Given the description of an element on the screen output the (x, y) to click on. 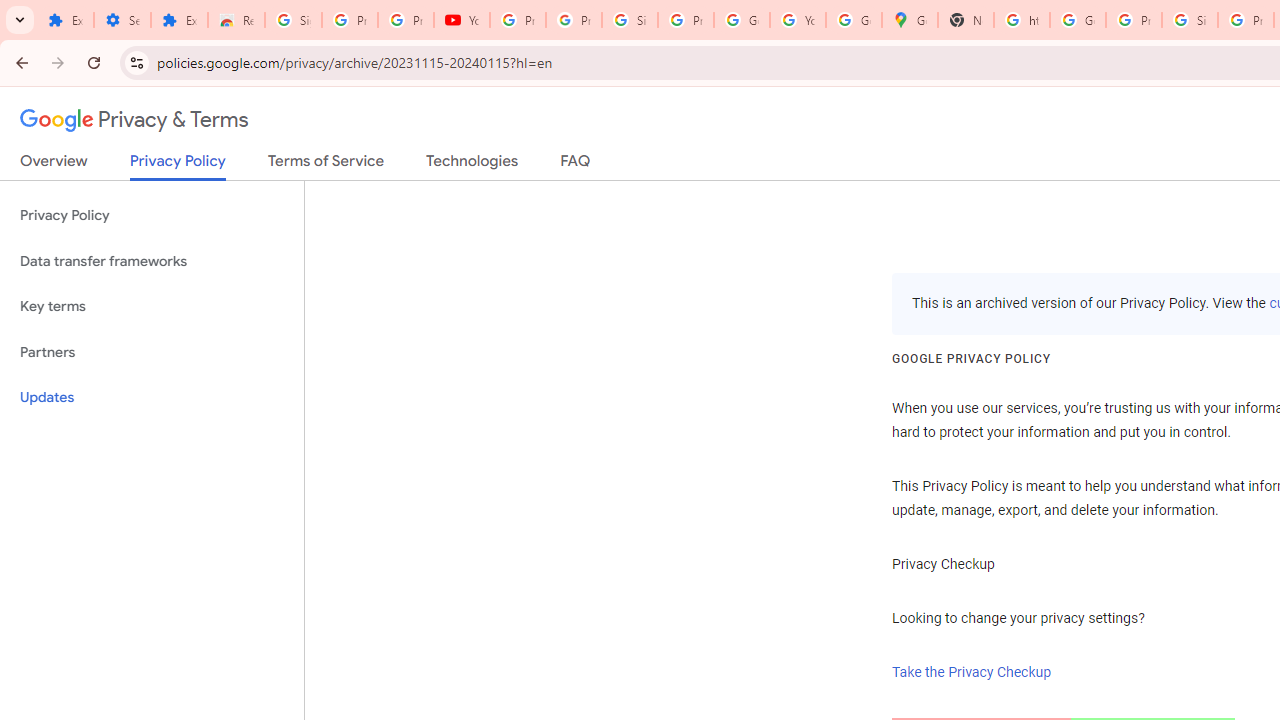
New Tab (966, 20)
